Given the description of an element on the screen output the (x, y) to click on. 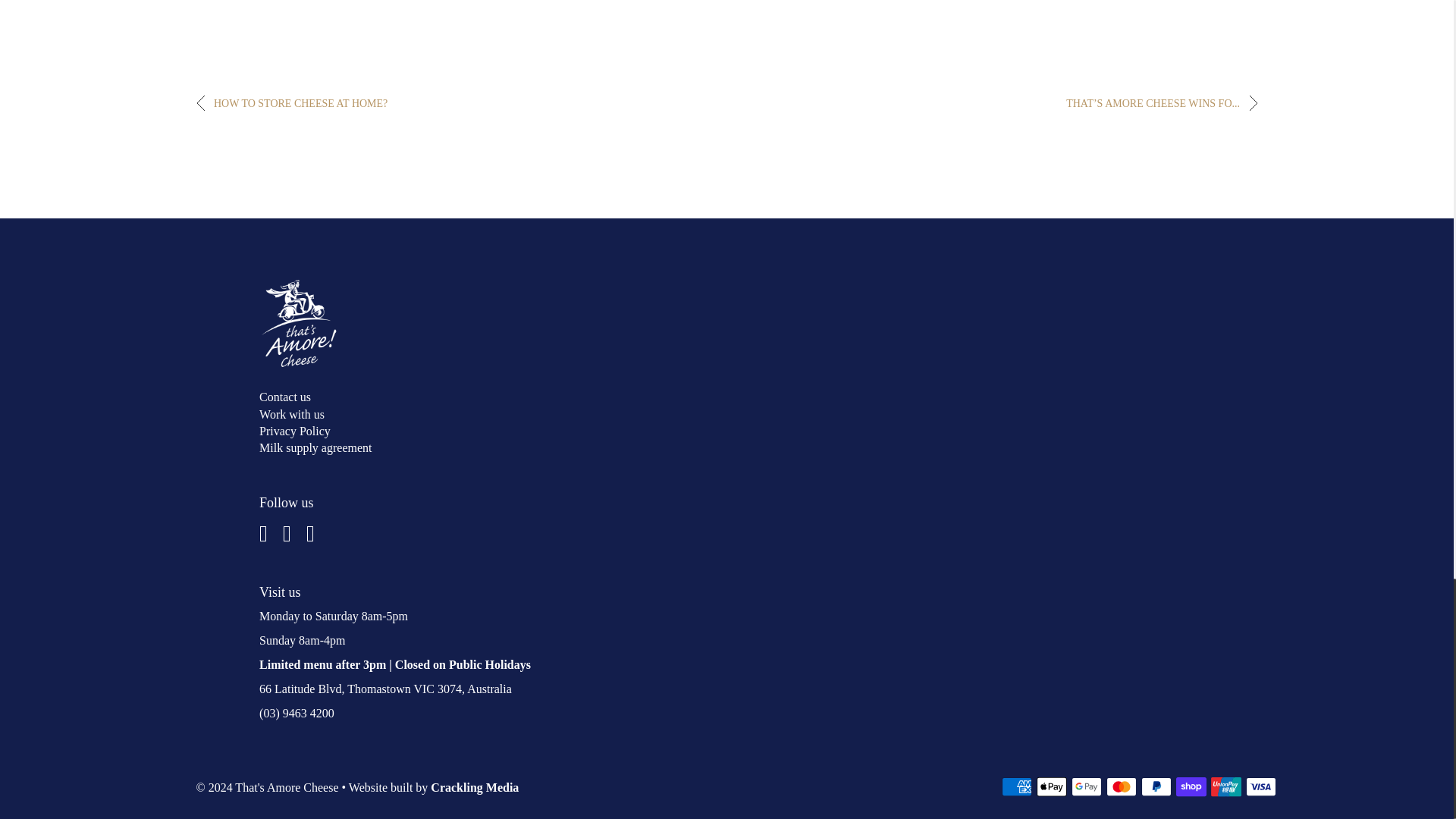
PayPal (1156, 786)
Mastercard (1121, 786)
Apple Pay (1051, 786)
Shop Pay (1191, 786)
American Express (1016, 786)
Google Pay (1086, 786)
Visa (1261, 786)
tel:0394634200 (296, 712)
Union Pay (1226, 786)
